Given the description of an element on the screen output the (x, y) to click on. 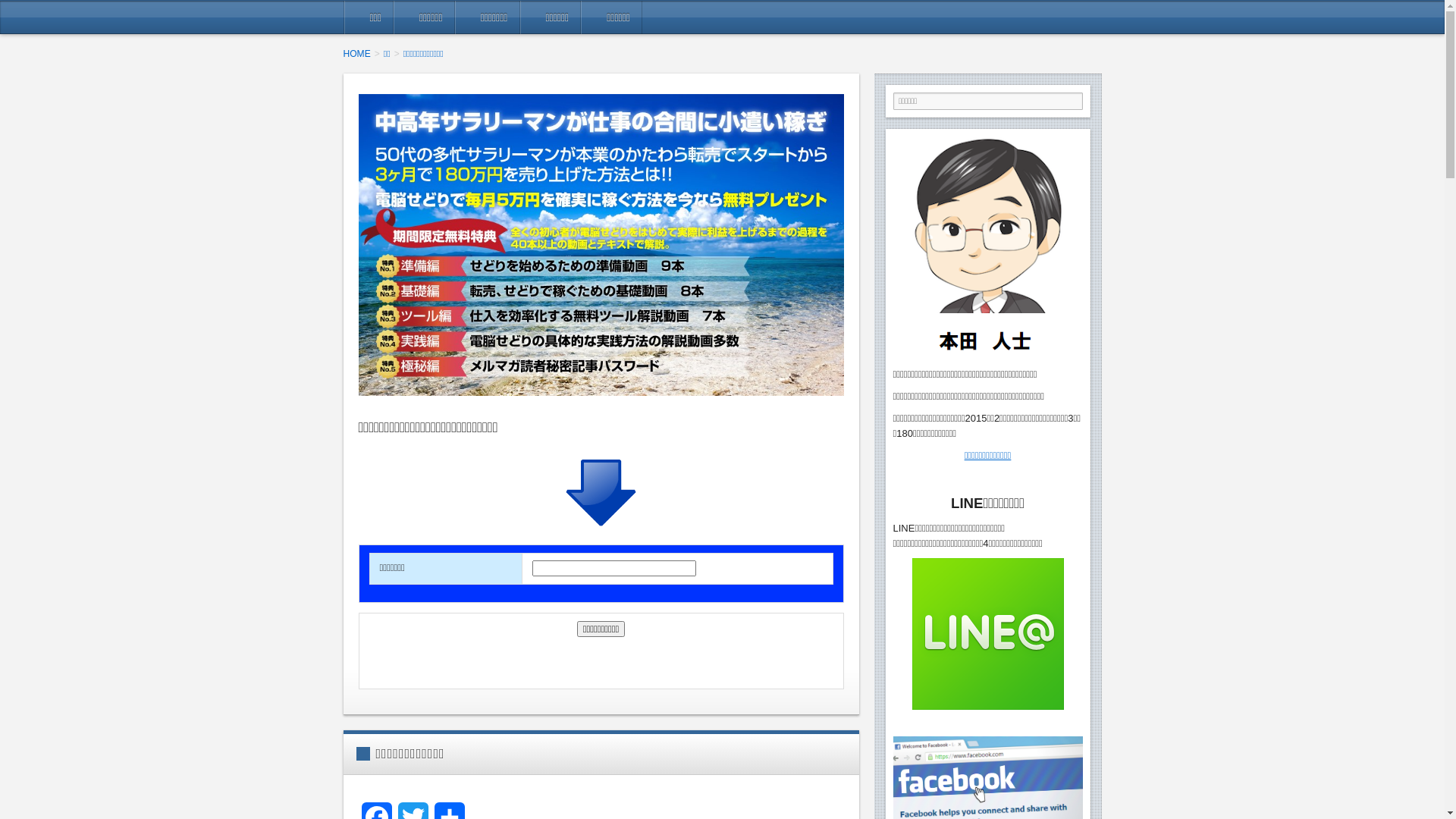
HOME Element type: text (360, 53)
